Given the description of an element on the screen output the (x, y) to click on. 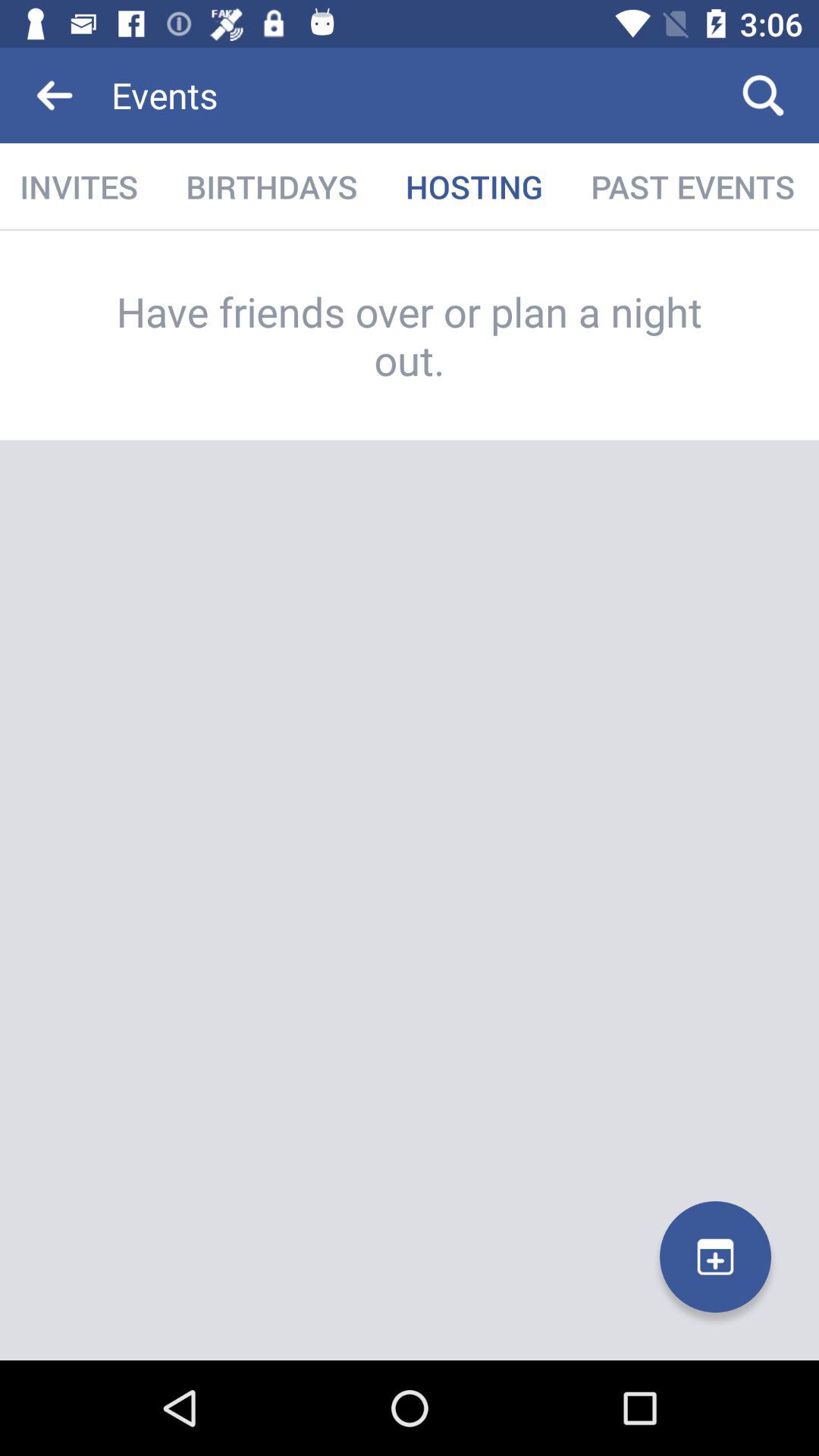
tap the past events icon (693, 186)
